Given the description of an element on the screen output the (x, y) to click on. 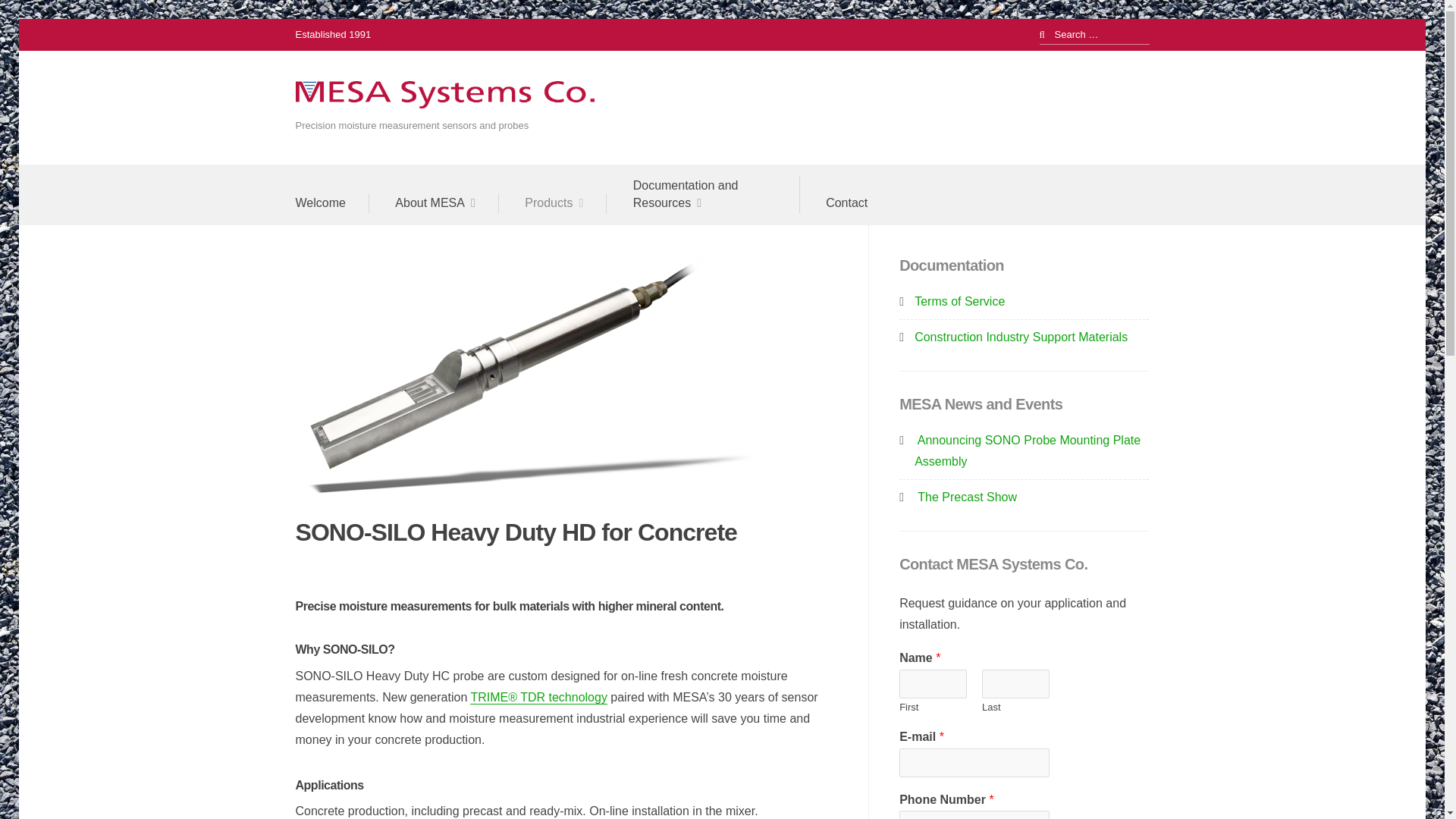
Search (32, 16)
Welcome (332, 202)
Products (565, 202)
Contact (846, 202)
About MESA (445, 202)
Documentation and Resources (716, 194)
